Given the description of an element on the screen output the (x, y) to click on. 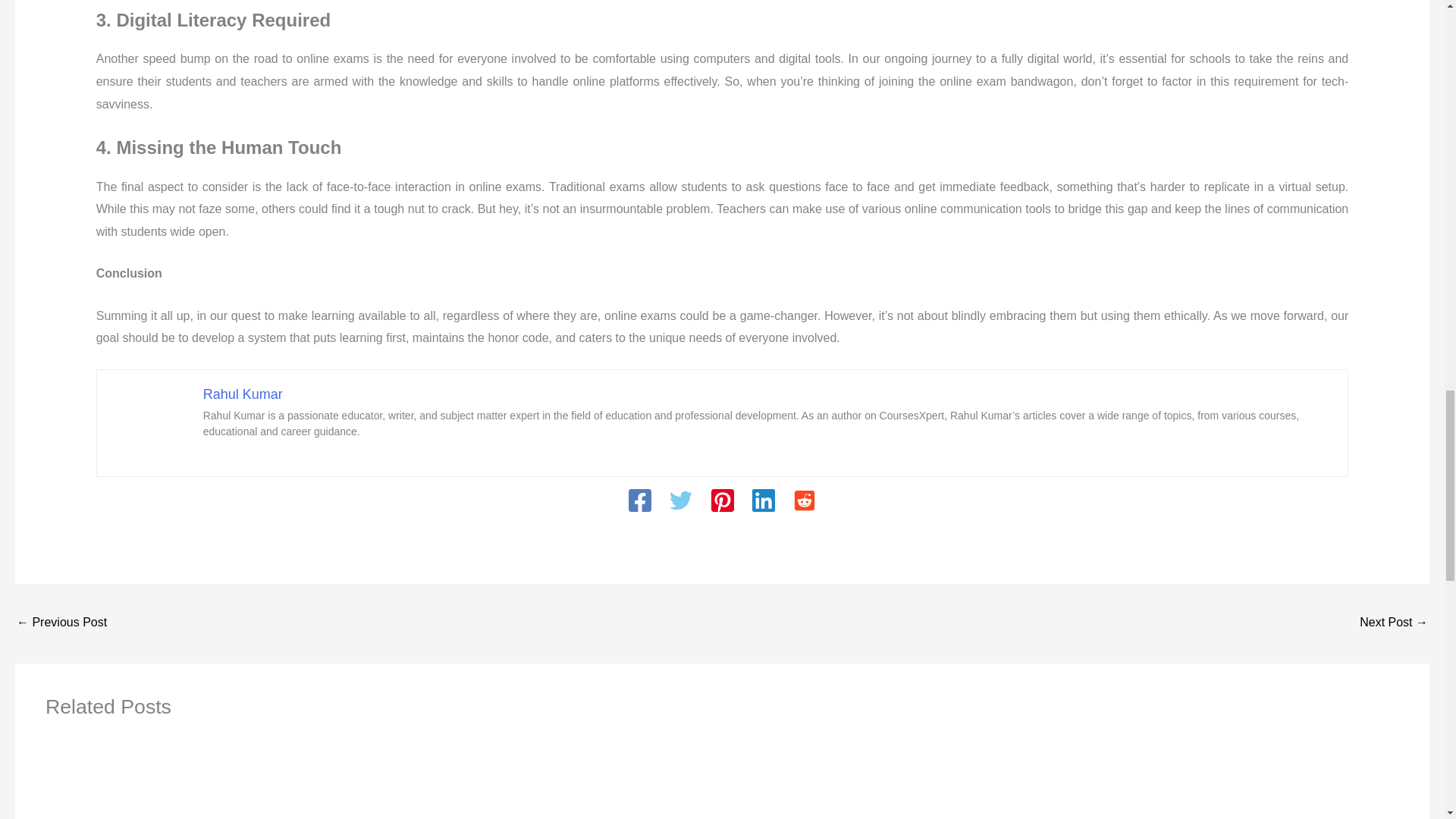
Big Data Courses: Unlocking A Promising And Rewarding Career (61, 623)
